Given the description of an element on the screen output the (x, y) to click on. 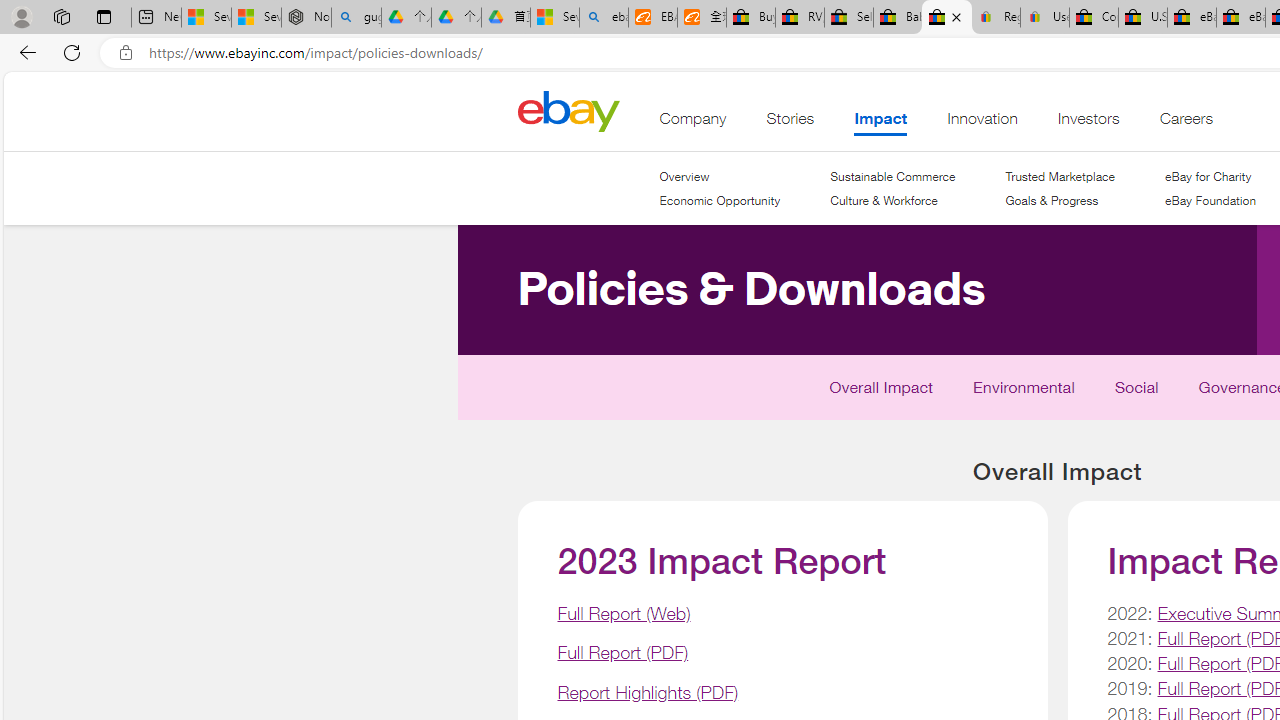
eBay Foundation (1209, 201)
Company (693, 123)
Home (568, 110)
Company (693, 123)
Careers (1185, 123)
Home (568, 110)
U.S. State Privacy Disclosures - eBay Inc. (1142, 17)
Careers (1185, 123)
Buy Auto Parts & Accessories | eBay (750, 17)
Full Report (Web) (623, 612)
